Given the description of an element on the screen output the (x, y) to click on. 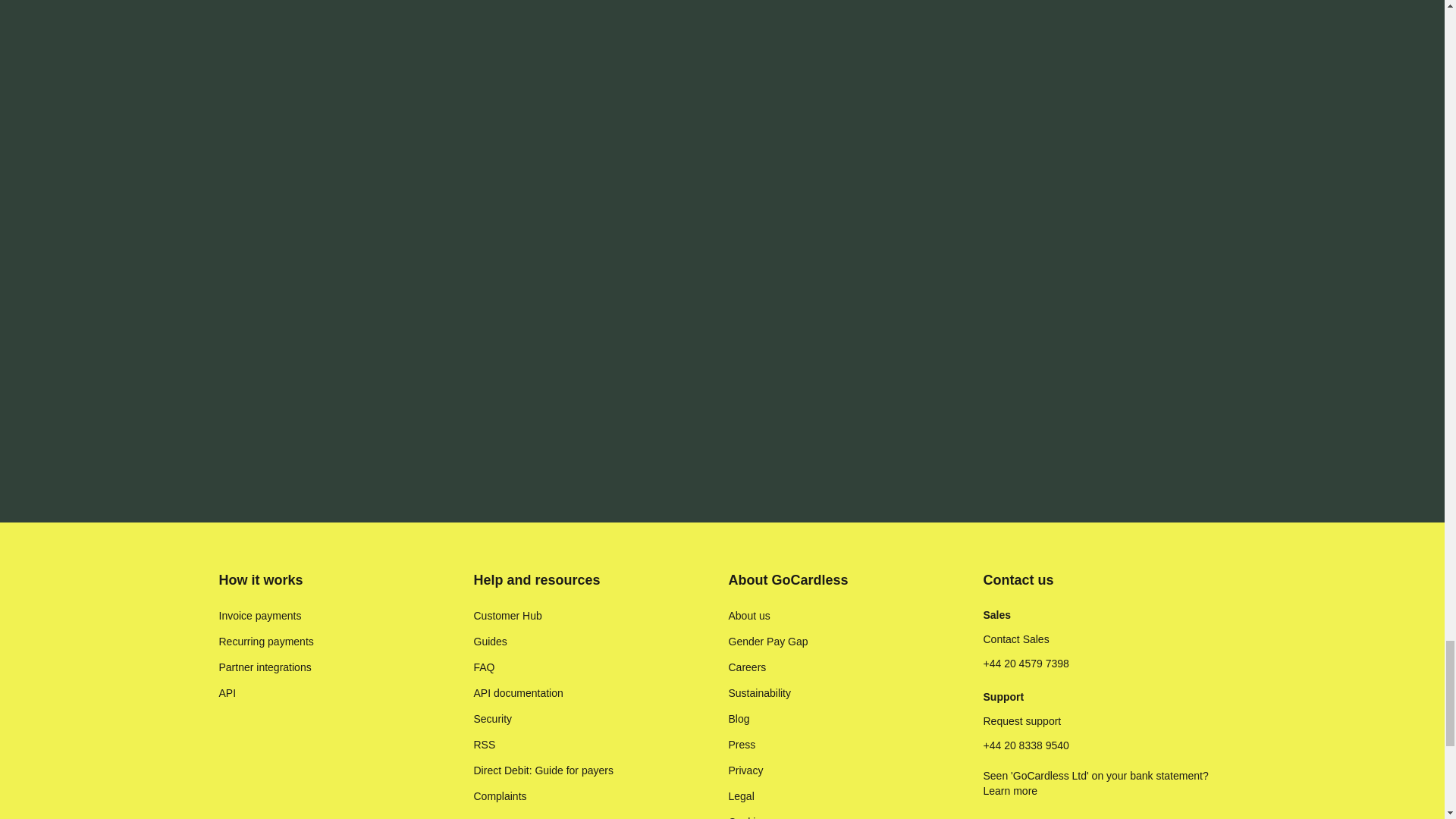
Direct Debit: Guide for payers (542, 770)
Customer Hub (507, 615)
API (226, 693)
Sustainability (759, 693)
Invoice payments (259, 615)
Guides (489, 641)
RSS (484, 744)
Recurring payments (265, 641)
Gender Pay Gap (768, 641)
Privacy (745, 770)
